Given the description of an element on the screen output the (x, y) to click on. 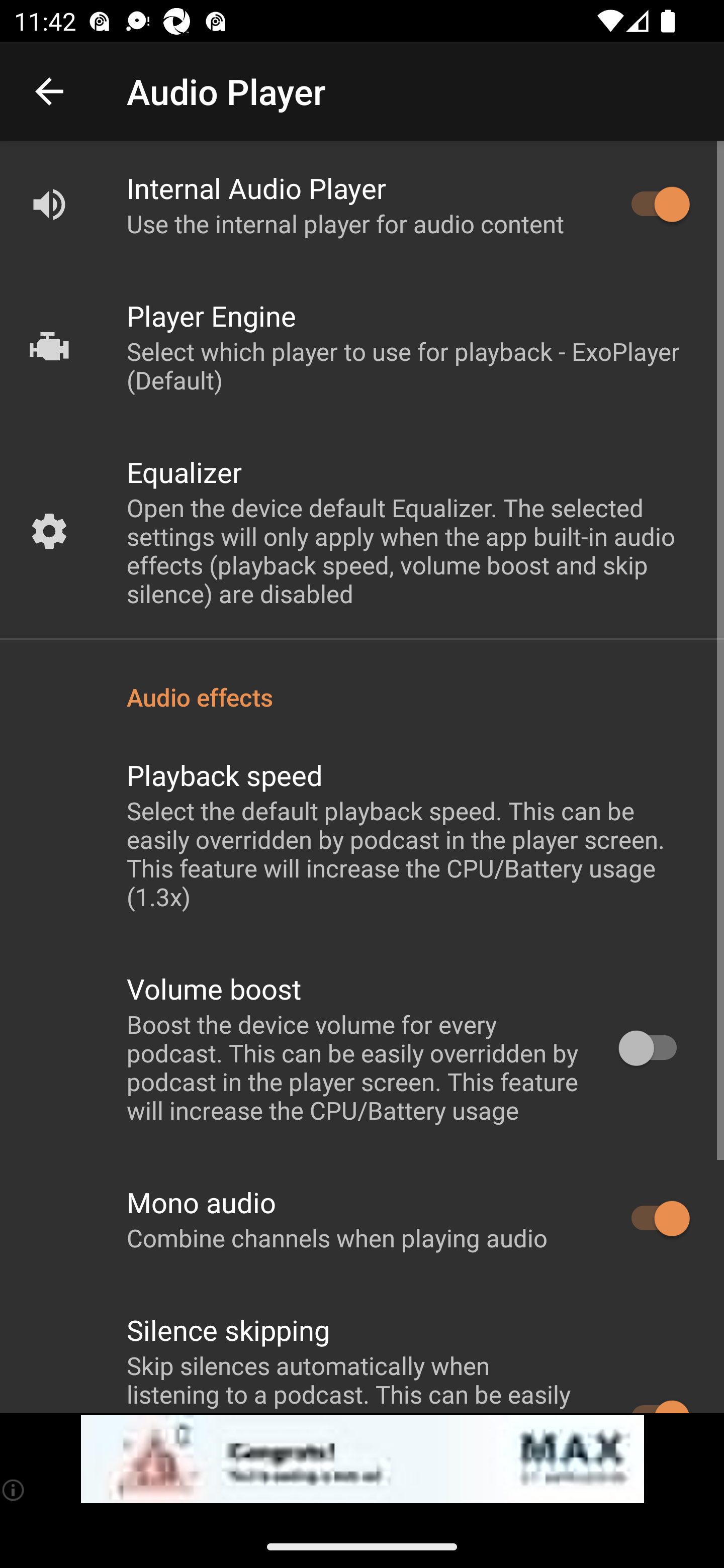
Navigate up (49, 91)
Mono audio Combine channels when playing audio (362, 1218)
app-monetization (362, 1459)
(i) (14, 1489)
